Given the description of an element on the screen output the (x, y) to click on. 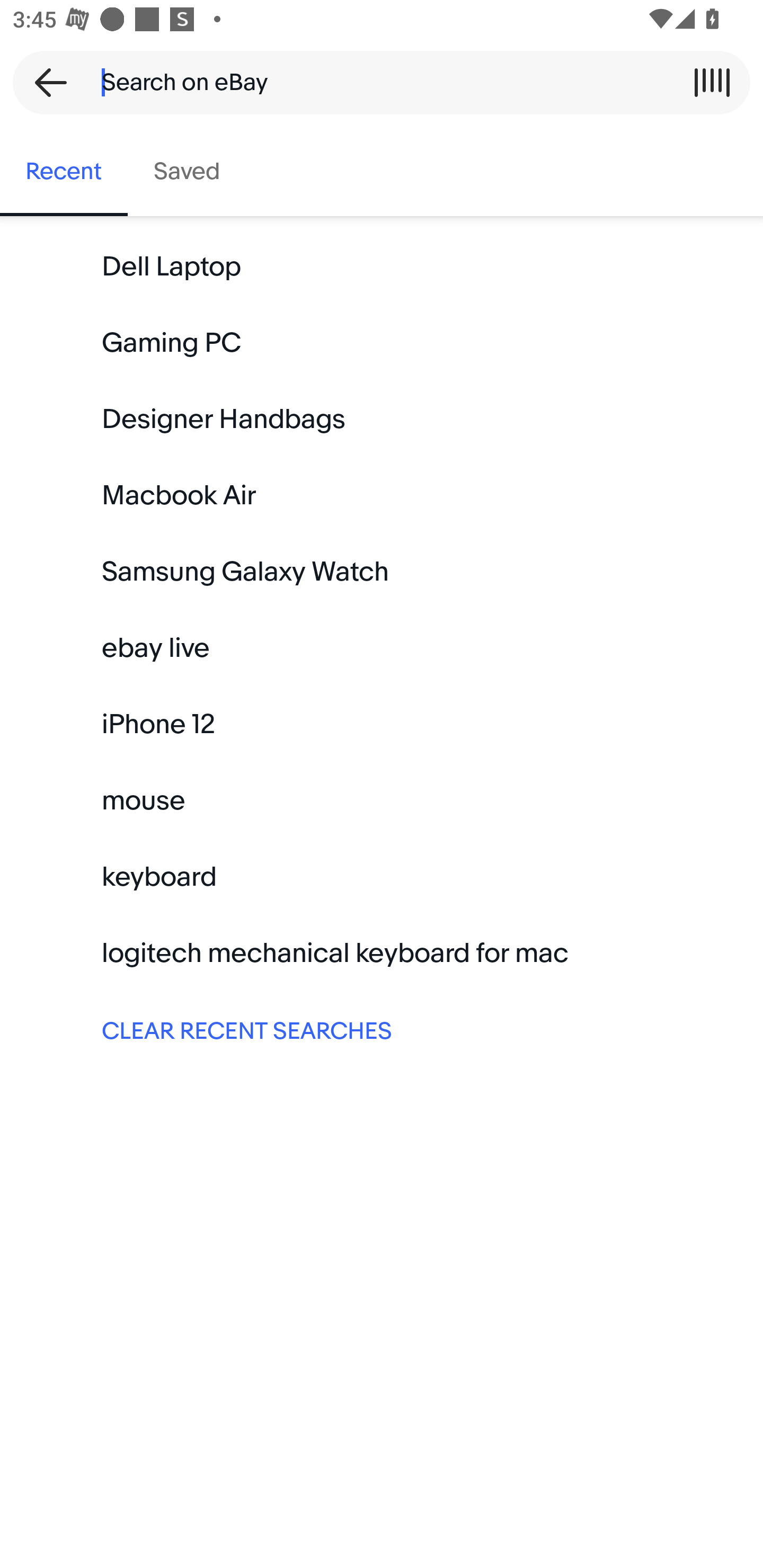
Back (44, 82)
Scan a barcode (711, 82)
Search on eBay (375, 82)
Saved, tab 2 of 2 Saved (186, 171)
Dell Laptop Keyword search Dell Laptop: (381, 266)
Gaming PC Keyword search Gaming PC: (381, 343)
Macbook Air Keyword search Macbook Air: (381, 495)
ebay live Keyword search ebay live: (381, 647)
iPhone 12 Keyword search iPhone 12: (381, 724)
mouse Keyword search mouse: (381, 800)
keyboard Keyword search keyboard: (381, 876)
CLEAR RECENT SEARCHES (381, 1028)
